Given the description of an element on the screen output the (x, y) to click on. 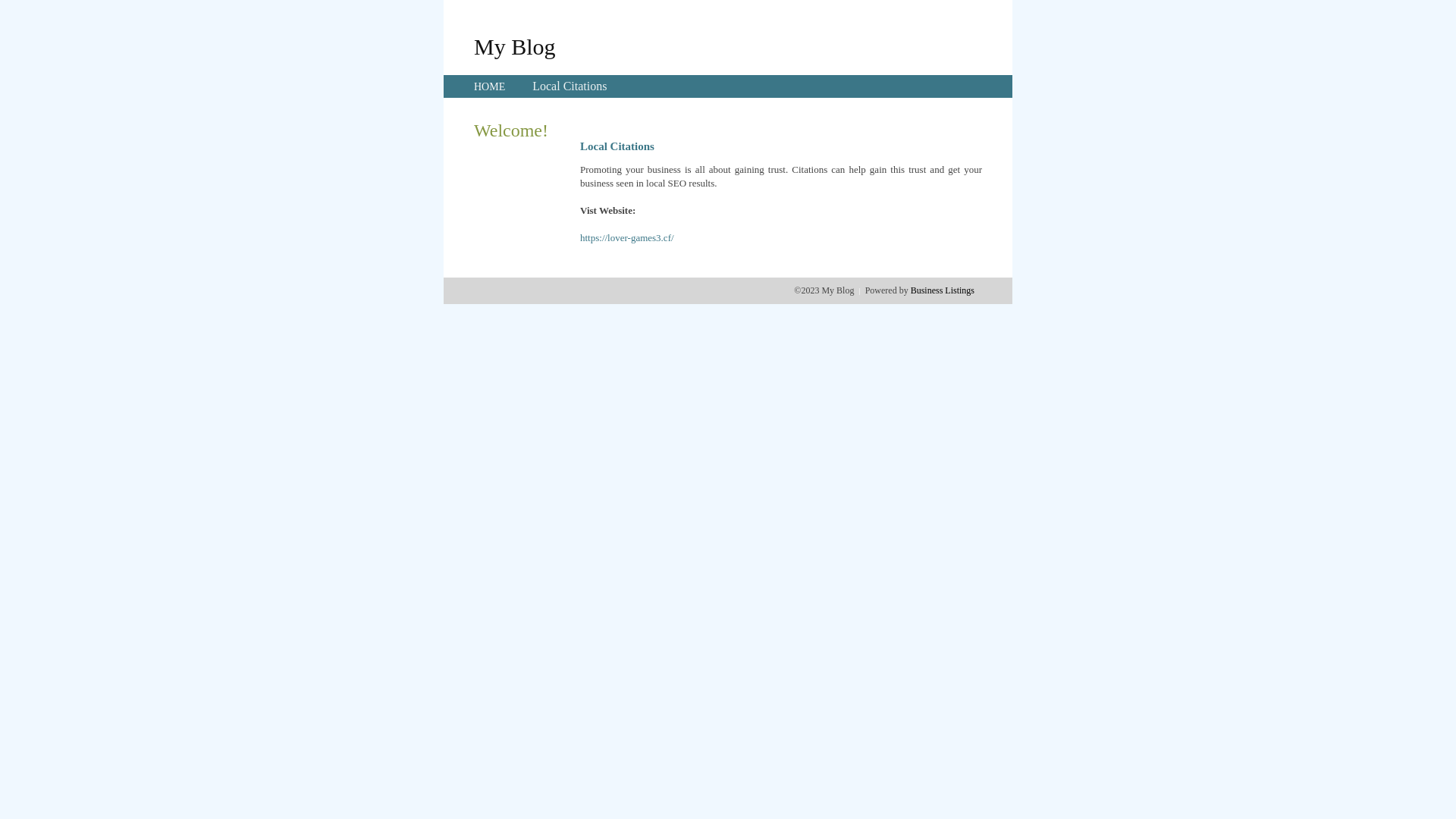
Local Citations Element type: text (569, 85)
My Blog Element type: text (514, 46)
HOME Element type: text (489, 86)
Business Listings Element type: text (942, 290)
https://lover-games3.cf/ Element type: text (627, 237)
